Given the description of an element on the screen output the (x, y) to click on. 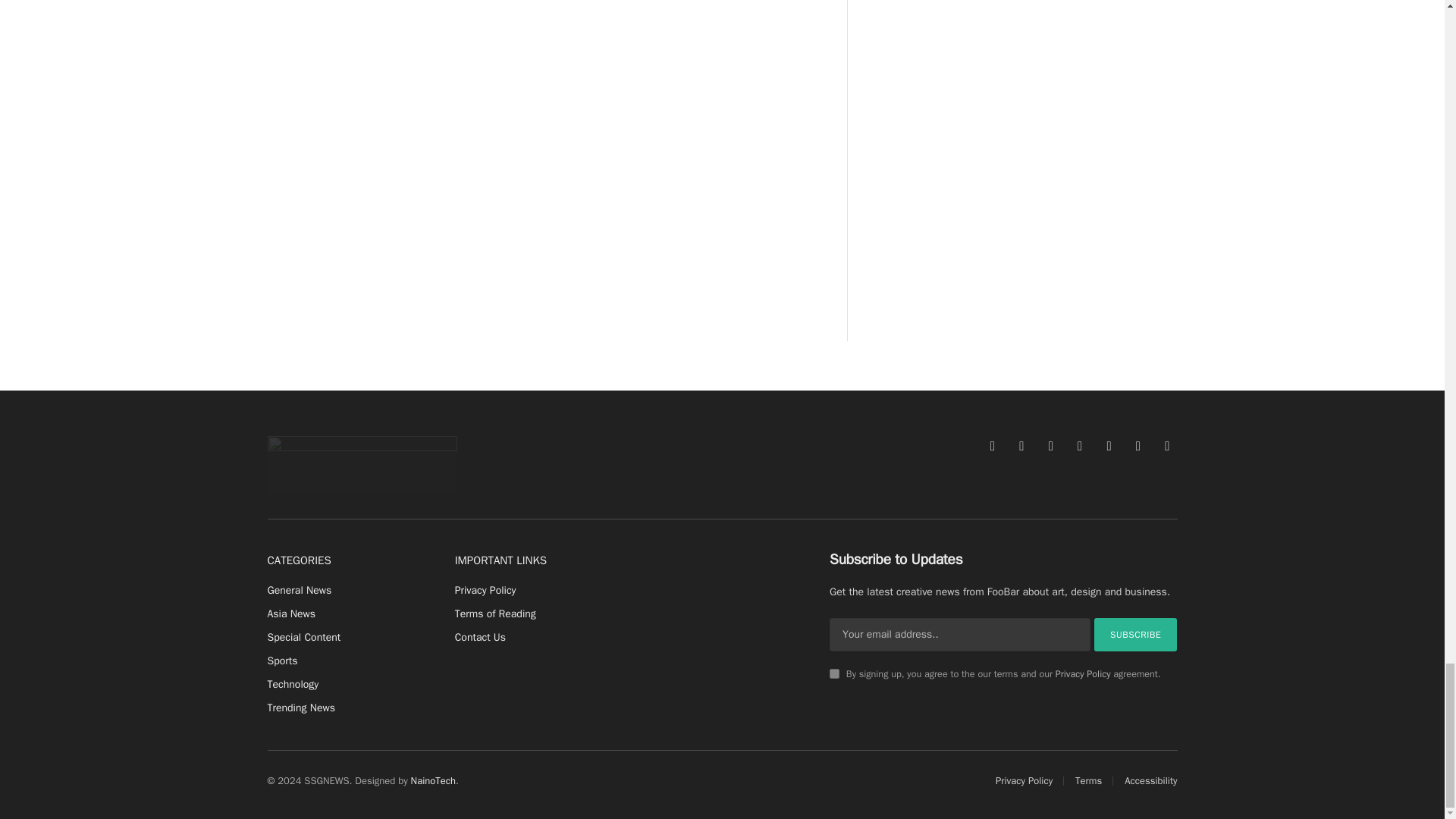
on (834, 673)
Subscribe (1135, 634)
